Given the description of an element on the screen output the (x, y) to click on. 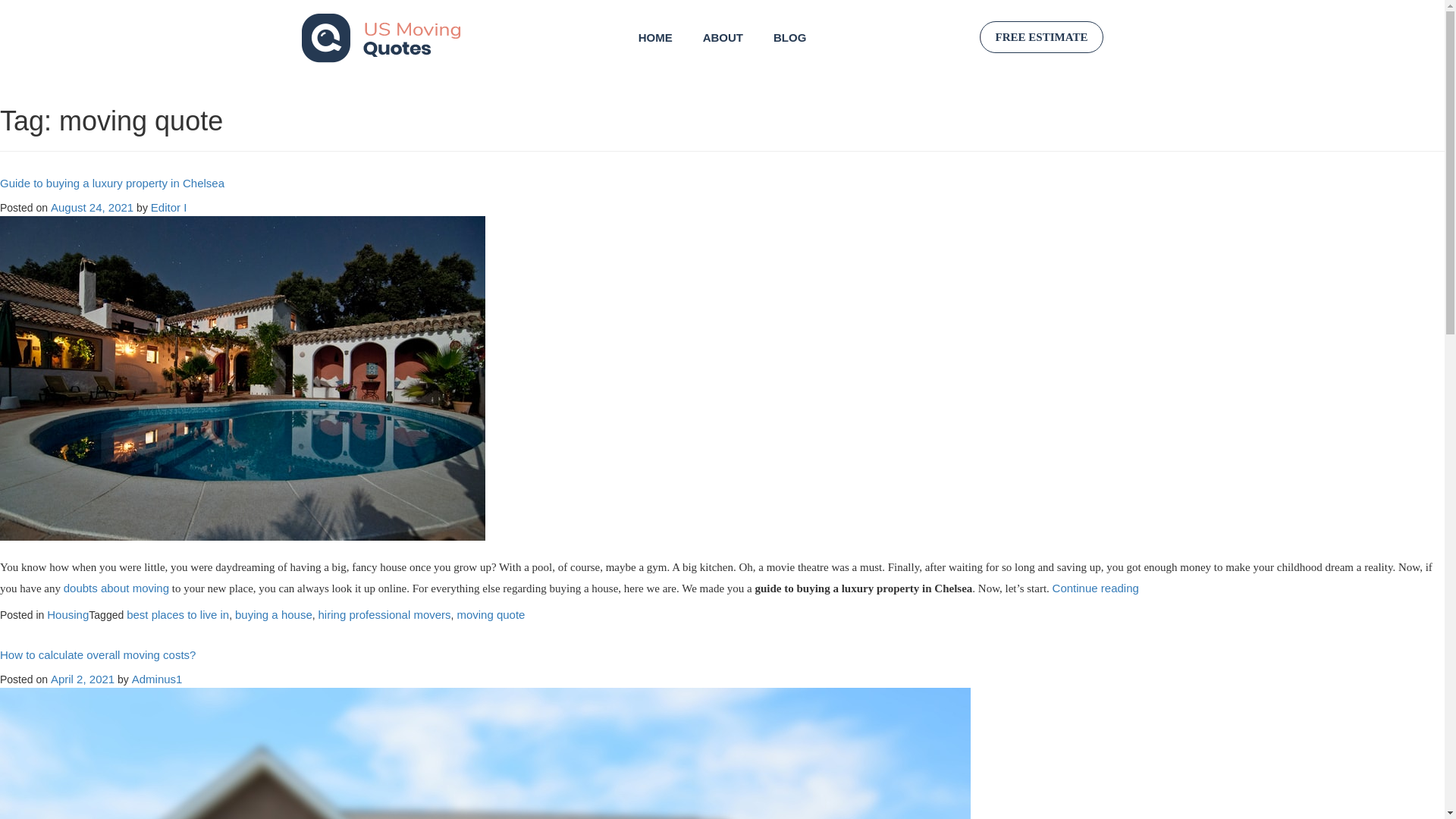
BLOG (789, 37)
Editor I (169, 206)
hiring professional movers (384, 614)
Adminus1 (157, 678)
ABOUT (722, 37)
moving quote (490, 614)
doubts about moving (116, 587)
FREE ESTIMATE (1041, 37)
buying a house (273, 614)
April 2, 2021 (82, 678)
Guide to buying a luxury property in Chelsea (112, 182)
best places to live in (177, 614)
Housing (67, 614)
HOME (655, 37)
How to calculate overall moving costs? (97, 654)
